Given the description of an element on the screen output the (x, y) to click on. 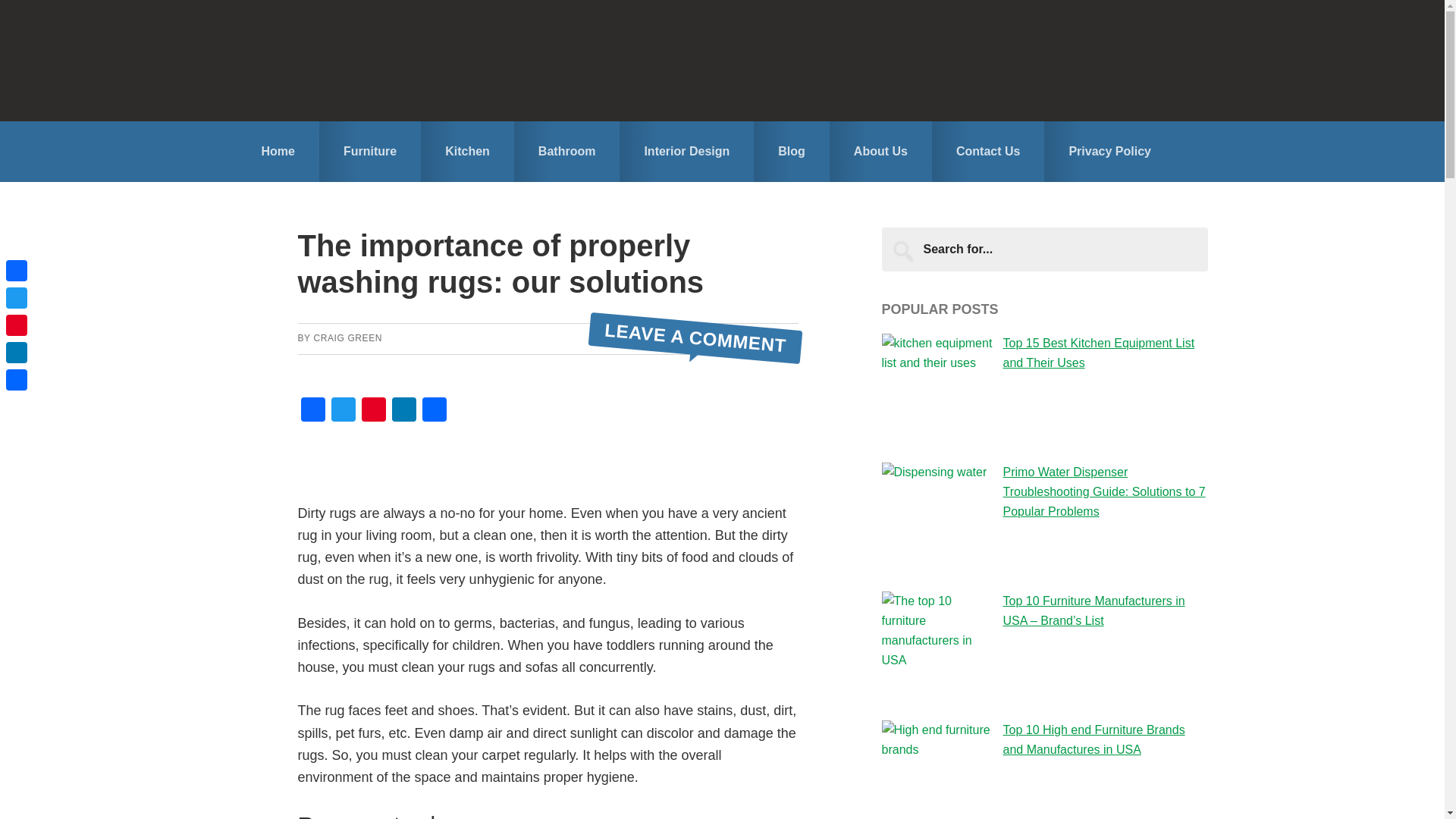
Furniture (369, 151)
LinkedIn (403, 411)
About Us (880, 151)
Interior Design (687, 151)
Blog (791, 151)
Contact Us (987, 151)
Facebook (312, 411)
Facebook (16, 270)
LinkedIn (403, 411)
CRAIG GREEN (347, 337)
LEAVE A COMMENT (695, 330)
Home (276, 151)
Share (433, 411)
Homoq (722, 60)
